Given the description of an element on the screen output the (x, y) to click on. 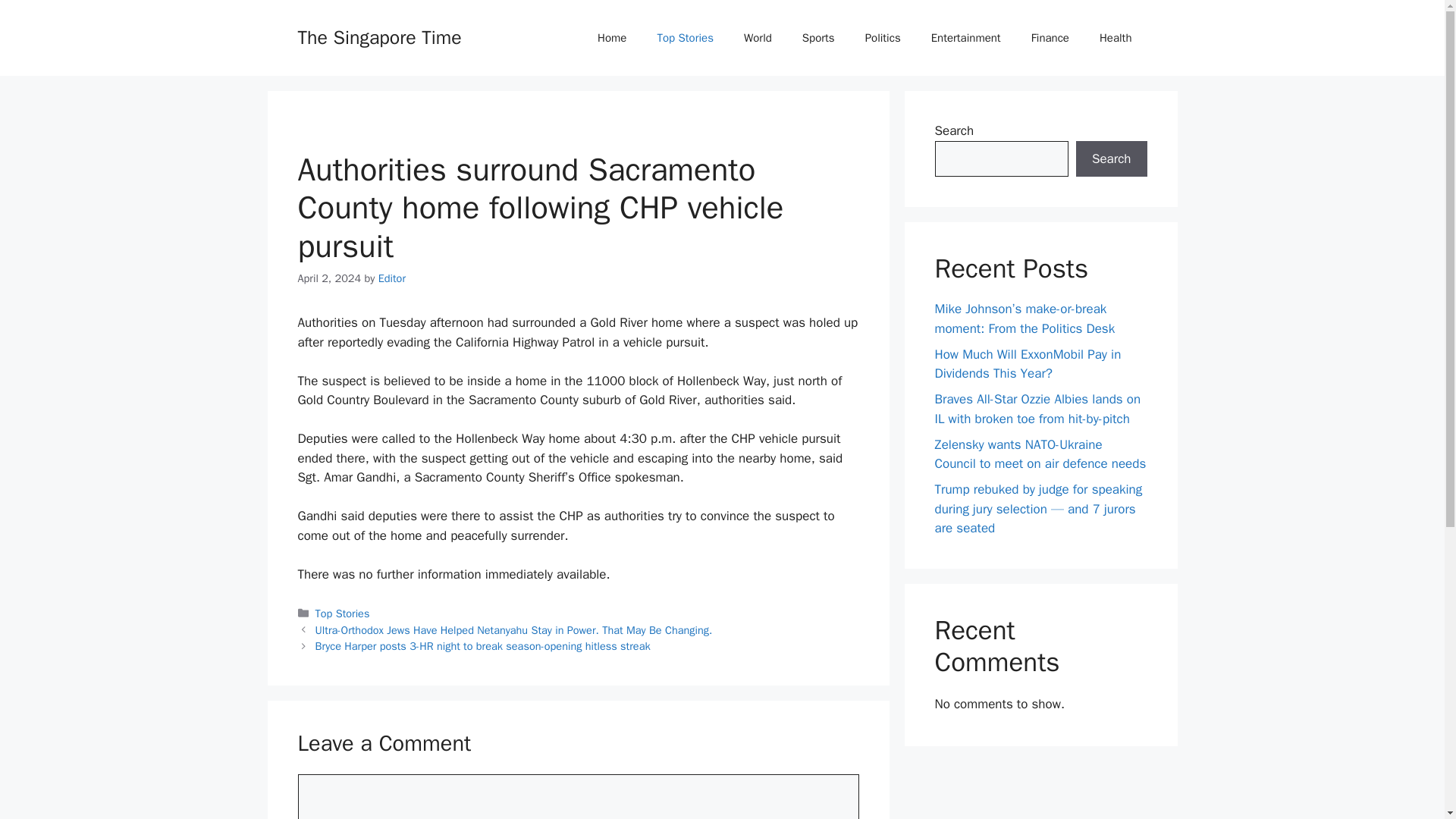
The Singapore Time (379, 37)
Finance (1050, 37)
How Much Will ExxonMobil Pay in Dividends This Year? (1027, 363)
Top Stories (342, 612)
Health (1115, 37)
Sports (818, 37)
Top Stories (685, 37)
Entertainment (965, 37)
